Given the description of an element on the screen output the (x, y) to click on. 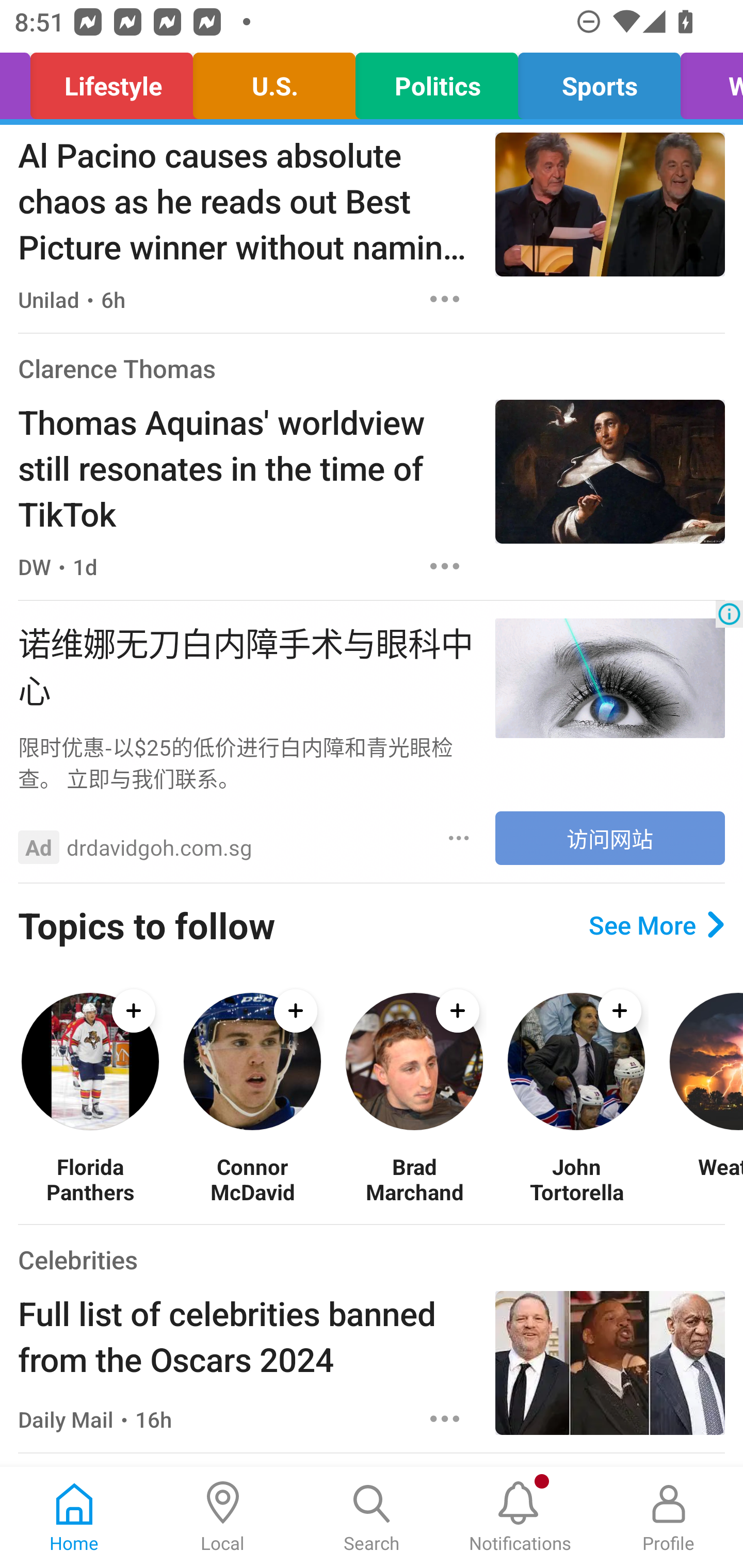
Lifestyle (111, 81)
U.S. (274, 81)
Politics (436, 81)
Sports (599, 81)
Options (444, 299)
Clarence Thomas (116, 368)
Options (444, 566)
Ad Choices Icon (729, 613)
诺维娜无刀白内障手术与眼科中心 (247, 664)
限时优惠-以$25的低价进行白内障和青光眼检查。 立即与我们联系。 (247, 761)
访问网站 (610, 837)
Options (459, 838)
drdavidgoh.com.sg (159, 847)
See More (656, 924)
Florida Panthers (89, 1178)
Connor McDavid (251, 1178)
Brad Marchand (413, 1178)
John Tortorella (575, 1178)
Celebrities (77, 1258)
Options (444, 1418)
Local (222, 1517)
Search (371, 1517)
Notifications, New notification Notifications (519, 1517)
Profile (668, 1517)
